Given the description of an element on the screen output the (x, y) to click on. 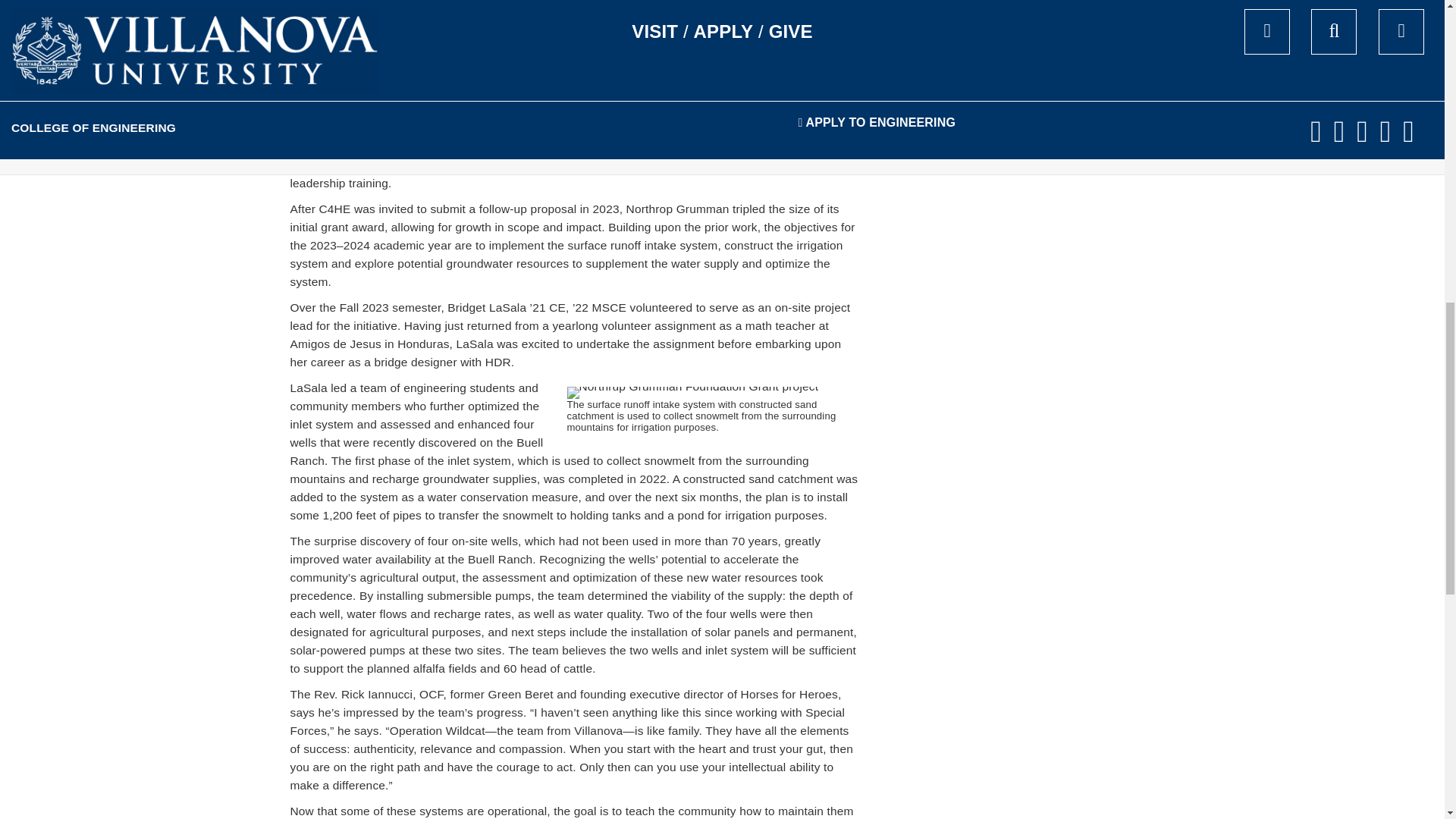
northrop-grumman-2 (692, 392)
